Given the description of an element on the screen output the (x, y) to click on. 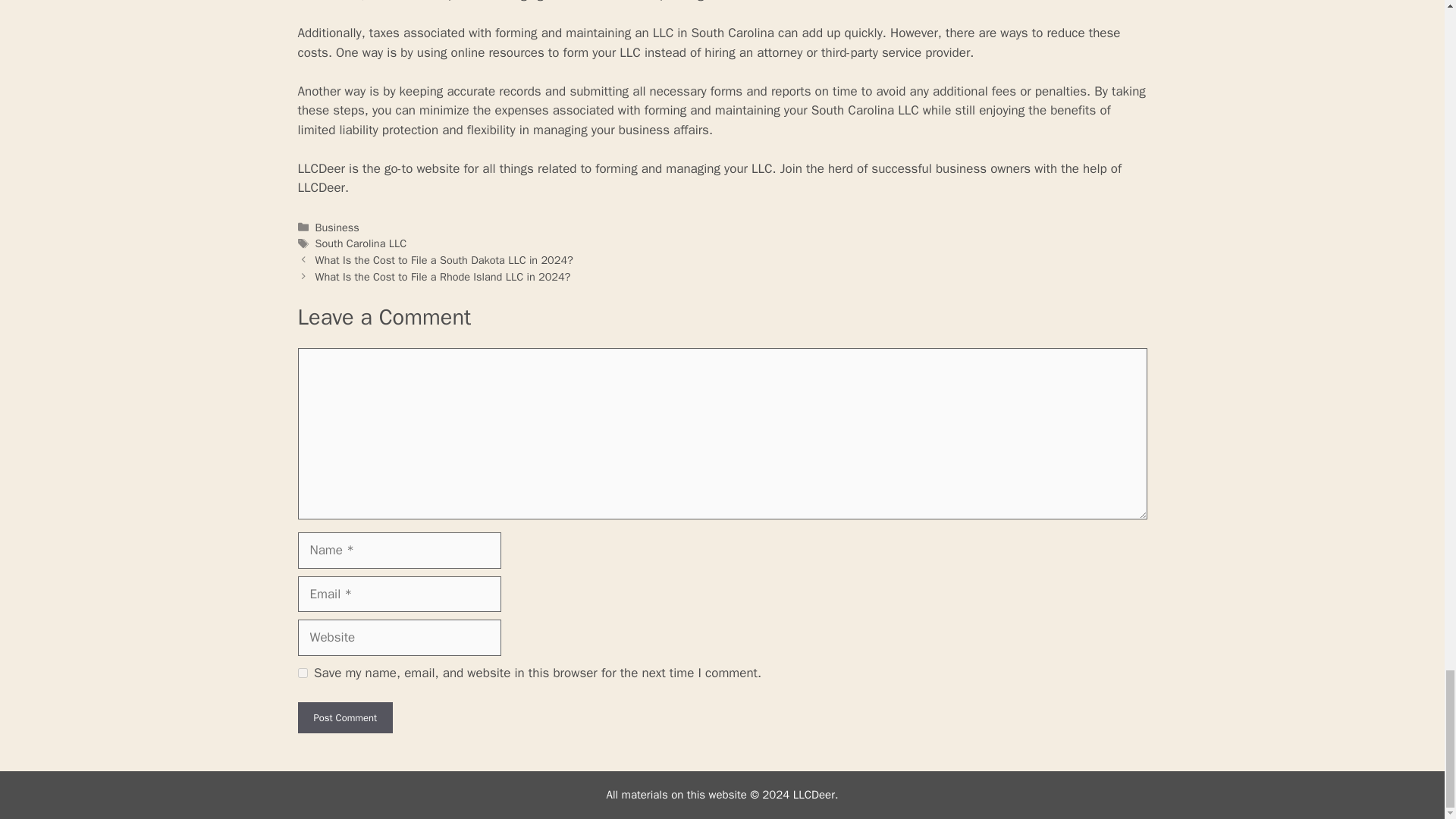
LLCDeer (321, 168)
Business (337, 227)
Post Comment (345, 717)
yes (302, 673)
South Carolina LLC (361, 243)
What Is the Cost to File a South Dakota LLC in 2024? (444, 259)
What Is the Cost to File a Rhode Island LLC in 2024? (442, 276)
